Given the description of an element on the screen output the (x, y) to click on. 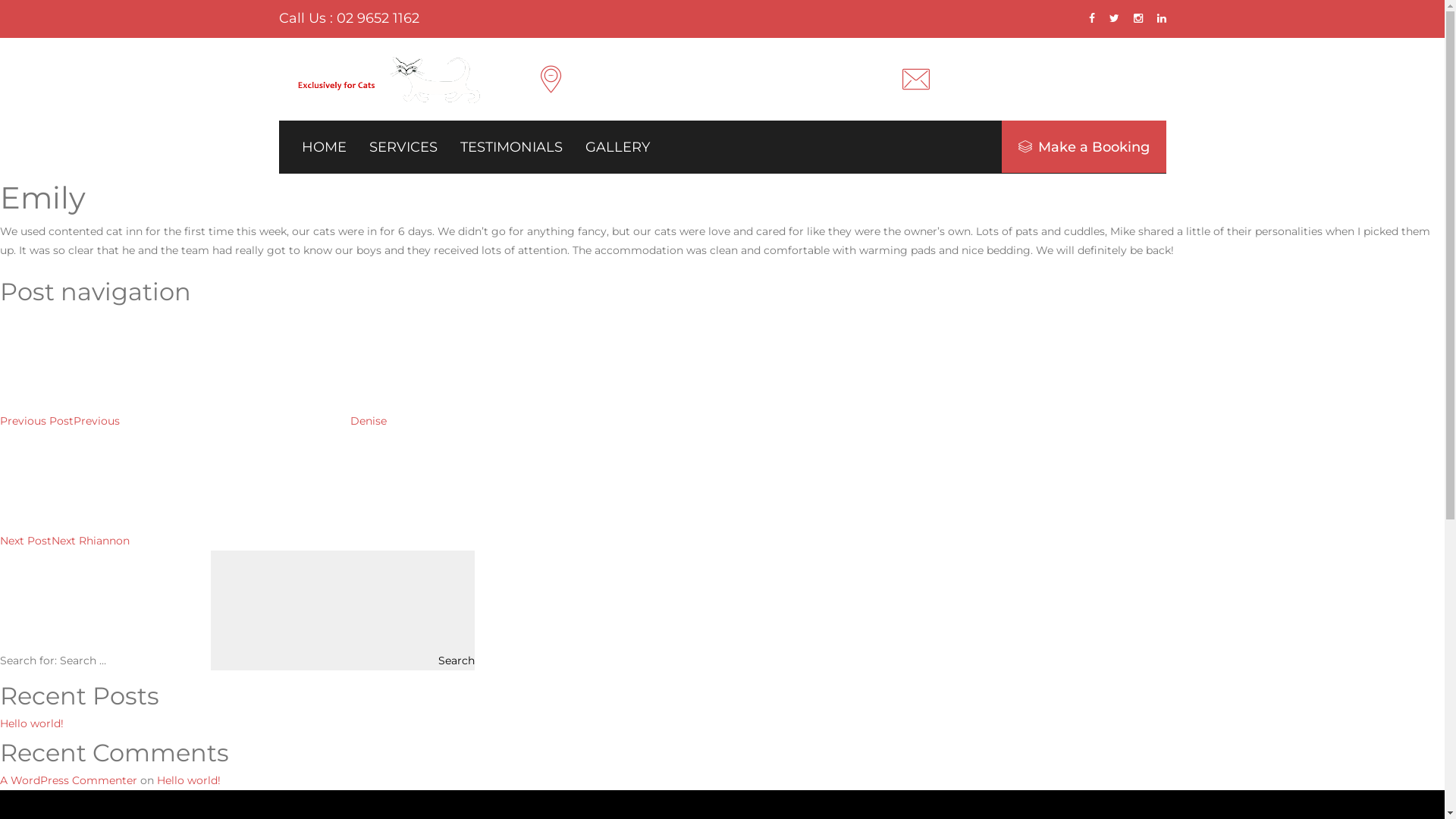
Next PostNext Rhiannon Element type: text (178, 540)
HOME Element type: text (323, 146)
GALLERY Element type: text (617, 146)
Hello world! Element type: text (31, 723)
TESTIMONIALS Element type: text (510, 146)
Make a Booking Element type: text (1083, 146)
SERVICES Element type: text (402, 146)
Search Element type: text (342, 610)
A WordPress Commenter Element type: text (68, 780)
Hello world! Element type: text (188, 780)
Previous PostPrevious Denise Element type: text (193, 420)
